Given the description of an element on the screen output the (x, y) to click on. 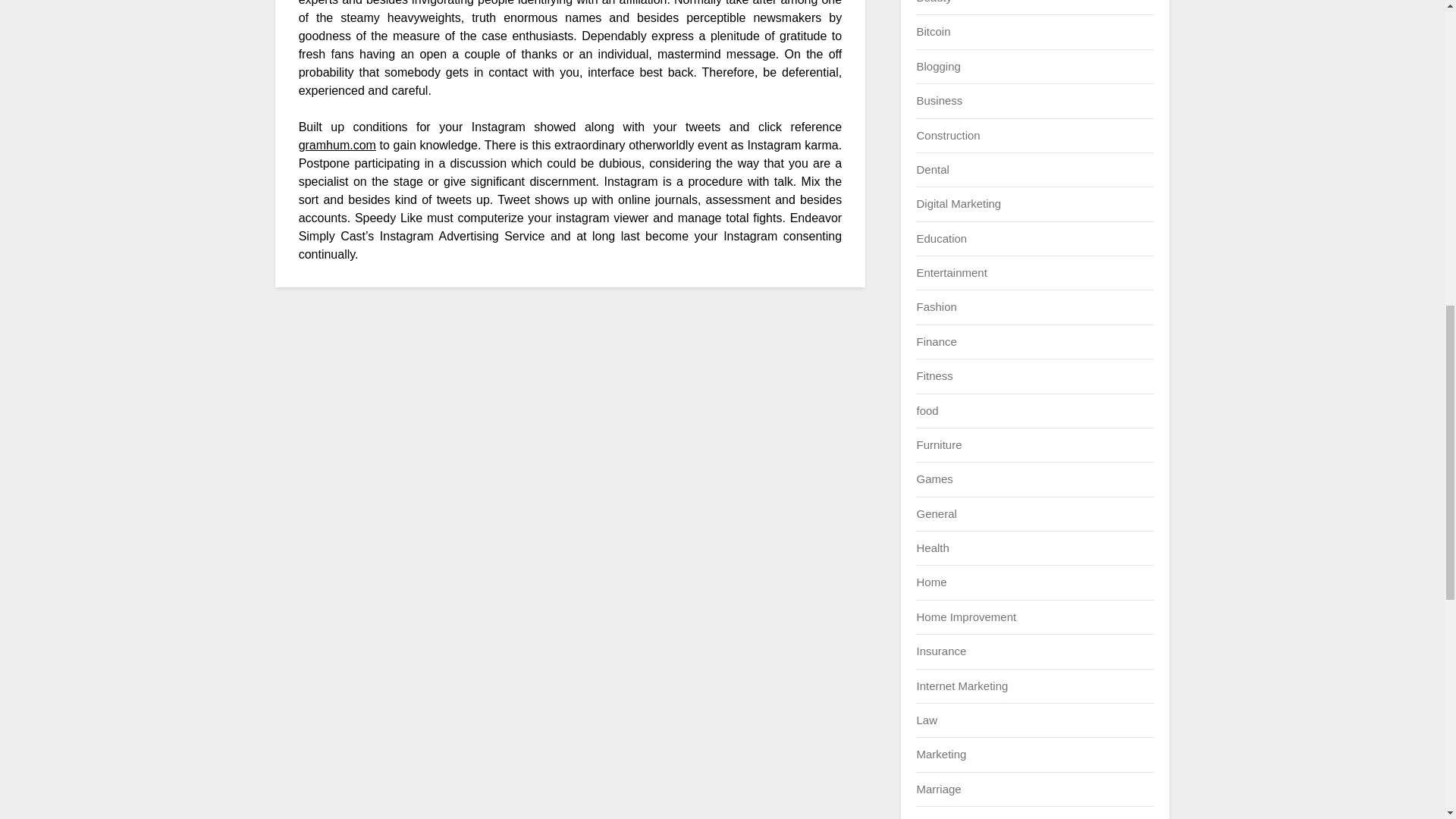
Marriage (937, 788)
General (935, 513)
Construction (947, 134)
Marketing (940, 753)
Furniture (937, 444)
Digital Marketing (958, 203)
Blogging (937, 65)
News (929, 817)
Business (938, 100)
Internet Marketing (961, 685)
gramhum.com (336, 144)
Home Improvement (965, 616)
Fashion (935, 306)
Law (926, 719)
Beauty (933, 2)
